Given the description of an element on the screen output the (x, y) to click on. 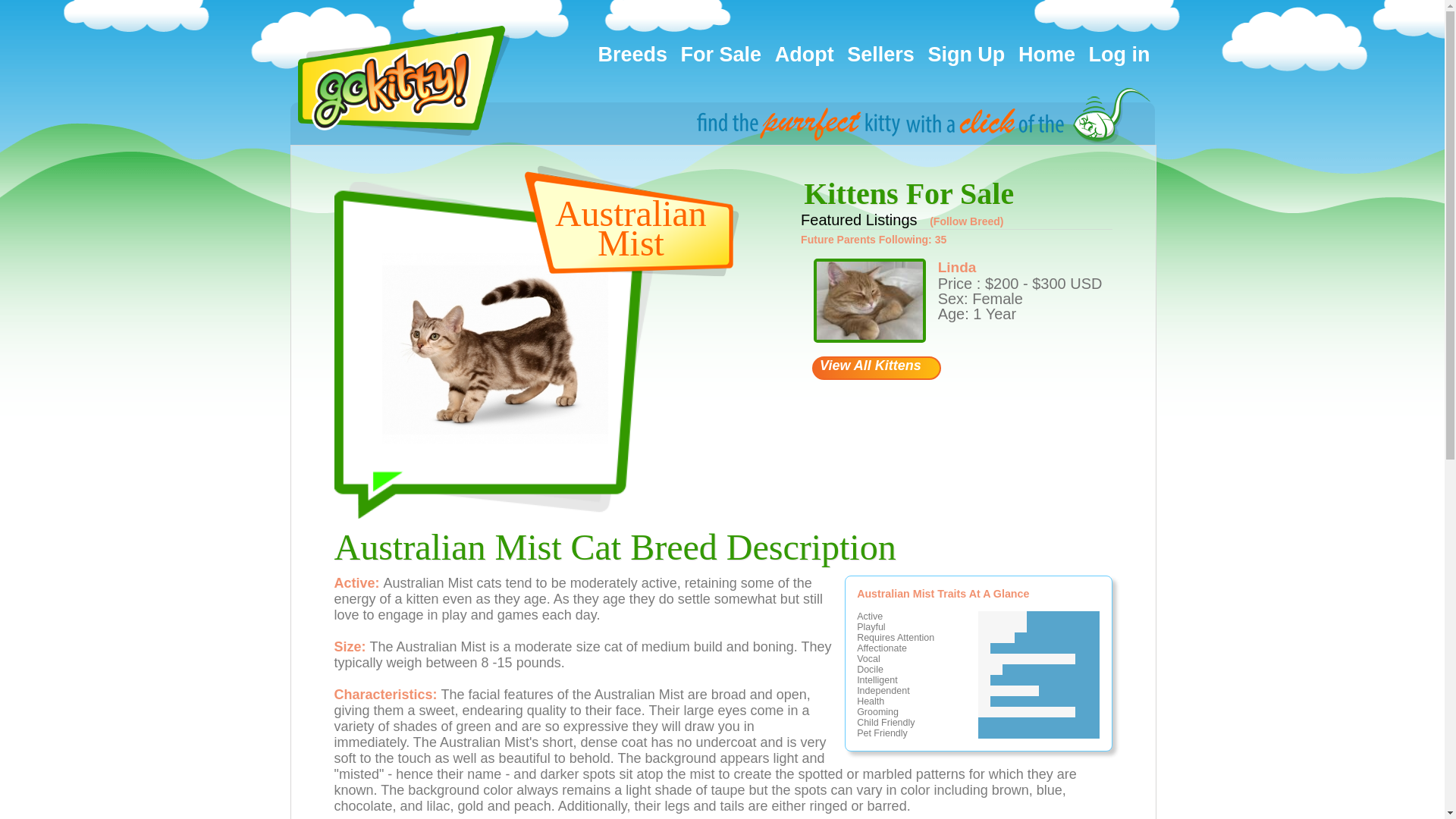
Home (1046, 54)
Currency (1086, 283)
GoKitty.com: Cats and Kittens For Sale (402, 80)
View All Kittens (876, 368)
find the perfect kitty (922, 113)
Linda - Australian Mist Kitten For Sale (869, 300)
Linda (956, 267)
Adopt (804, 54)
Sign Up (966, 54)
Log in (1119, 54)
Future Parents Following: 35 (873, 239)
For Sale (722, 54)
Breeds (631, 54)
Sellers (880, 54)
Australian Mist Breed (494, 348)
